Given the description of an element on the screen output the (x, y) to click on. 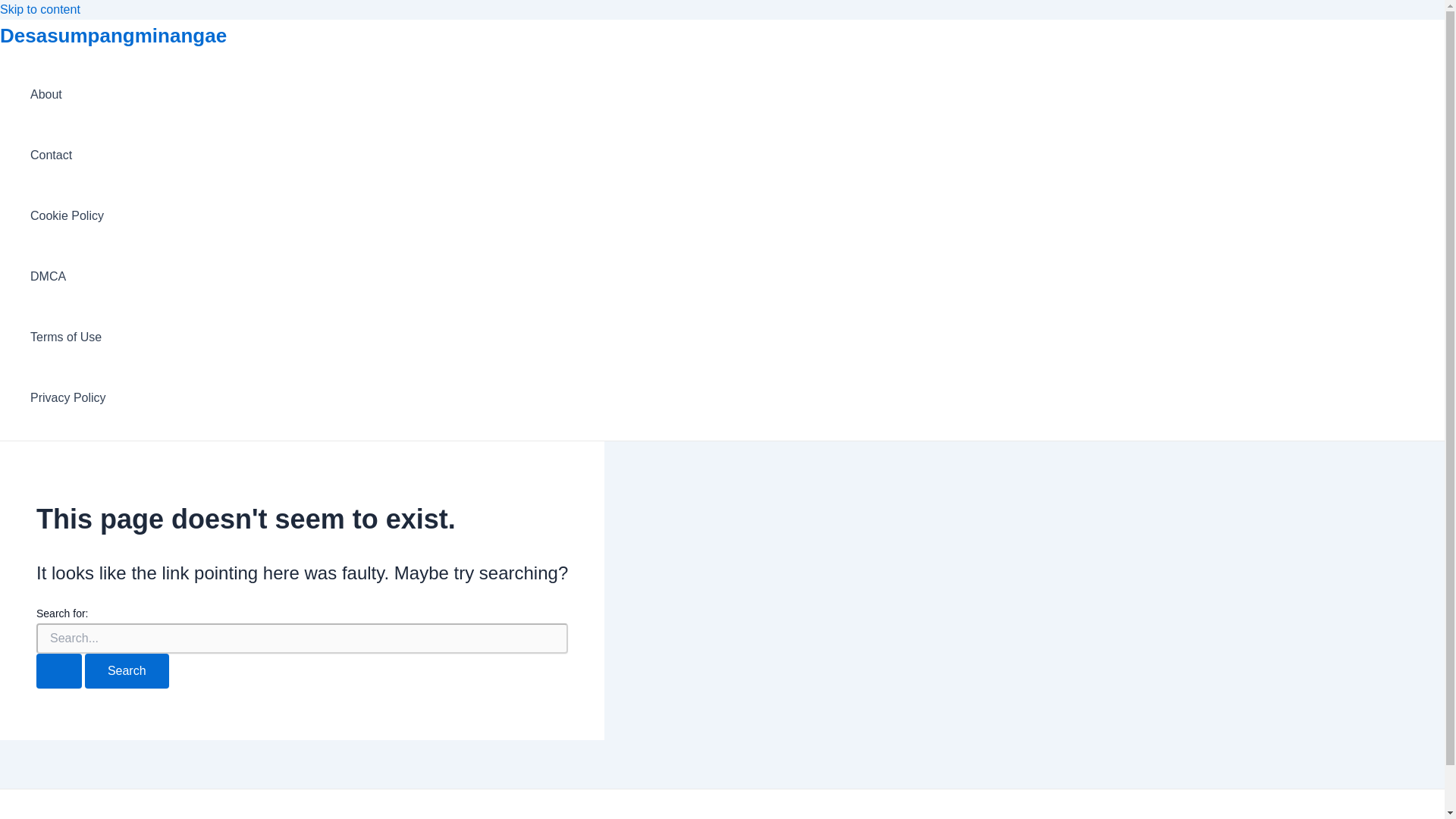
DMCA (68, 276)
Contact (68, 155)
Search (126, 670)
Terms of Use (68, 337)
Desasumpangminangae (113, 35)
About (68, 94)
Skip to content (40, 9)
Privacy Policy (68, 397)
Skip to content (40, 9)
Search (126, 670)
Cookie Policy (68, 215)
Search (126, 670)
